Given the description of an element on the screen output the (x, y) to click on. 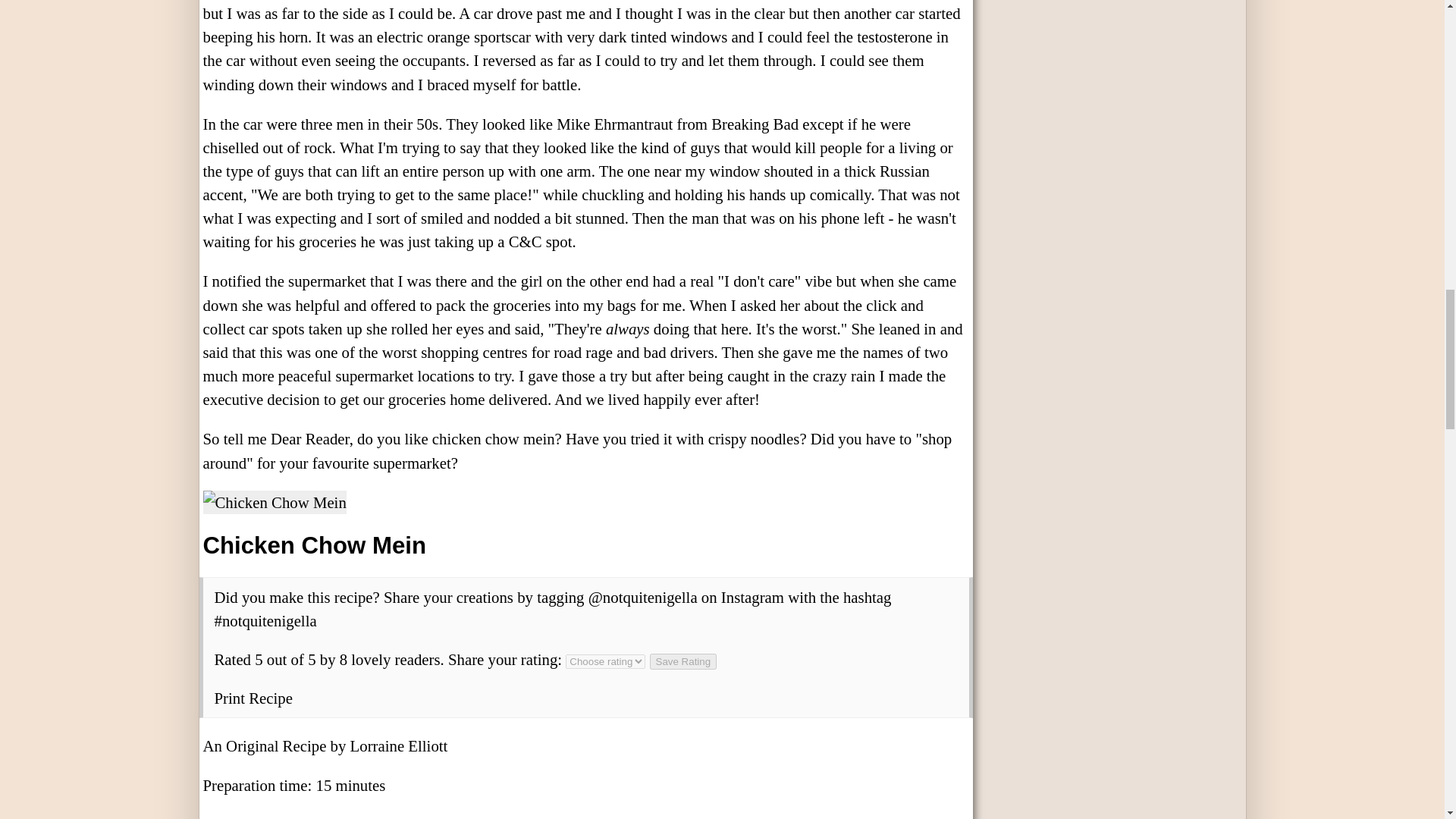
Save Rating (683, 661)
Print Recipe (253, 697)
